Given the description of an element on the screen output the (x, y) to click on. 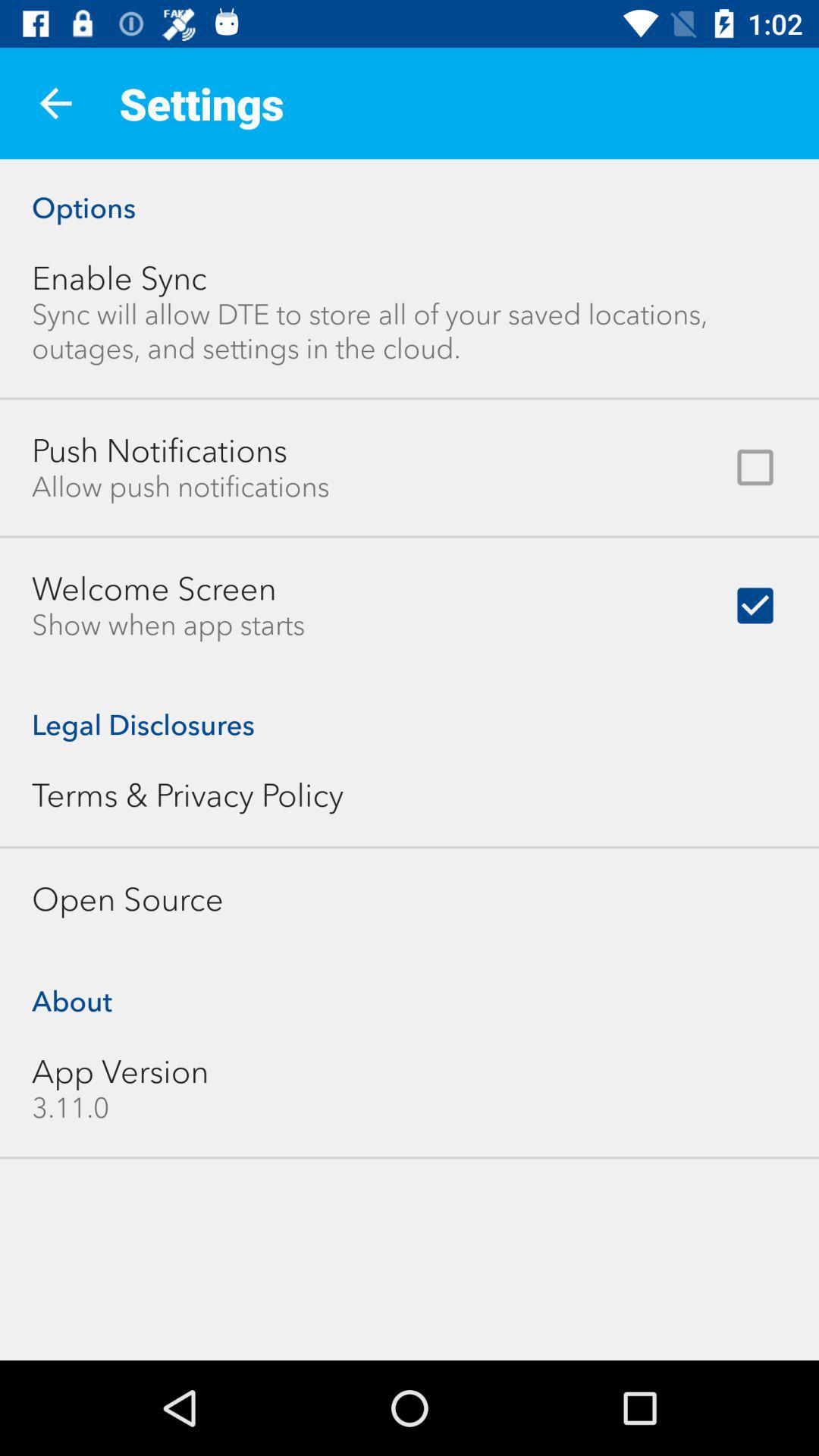
choose item below the welcome screen icon (167, 624)
